Given the description of an element on the screen output the (x, y) to click on. 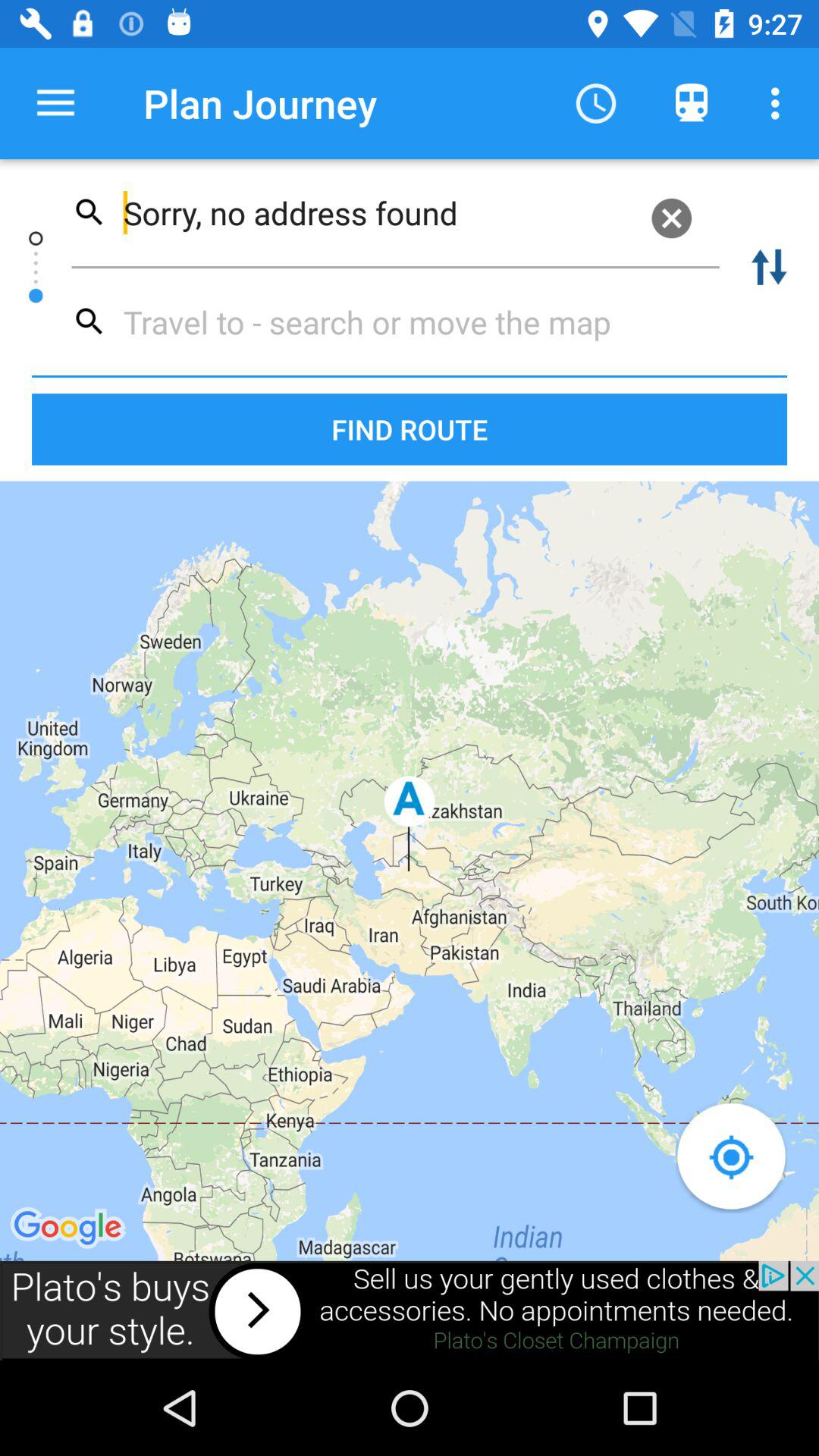
open (409, 1310)
